Given the description of an element on the screen output the (x, y) to click on. 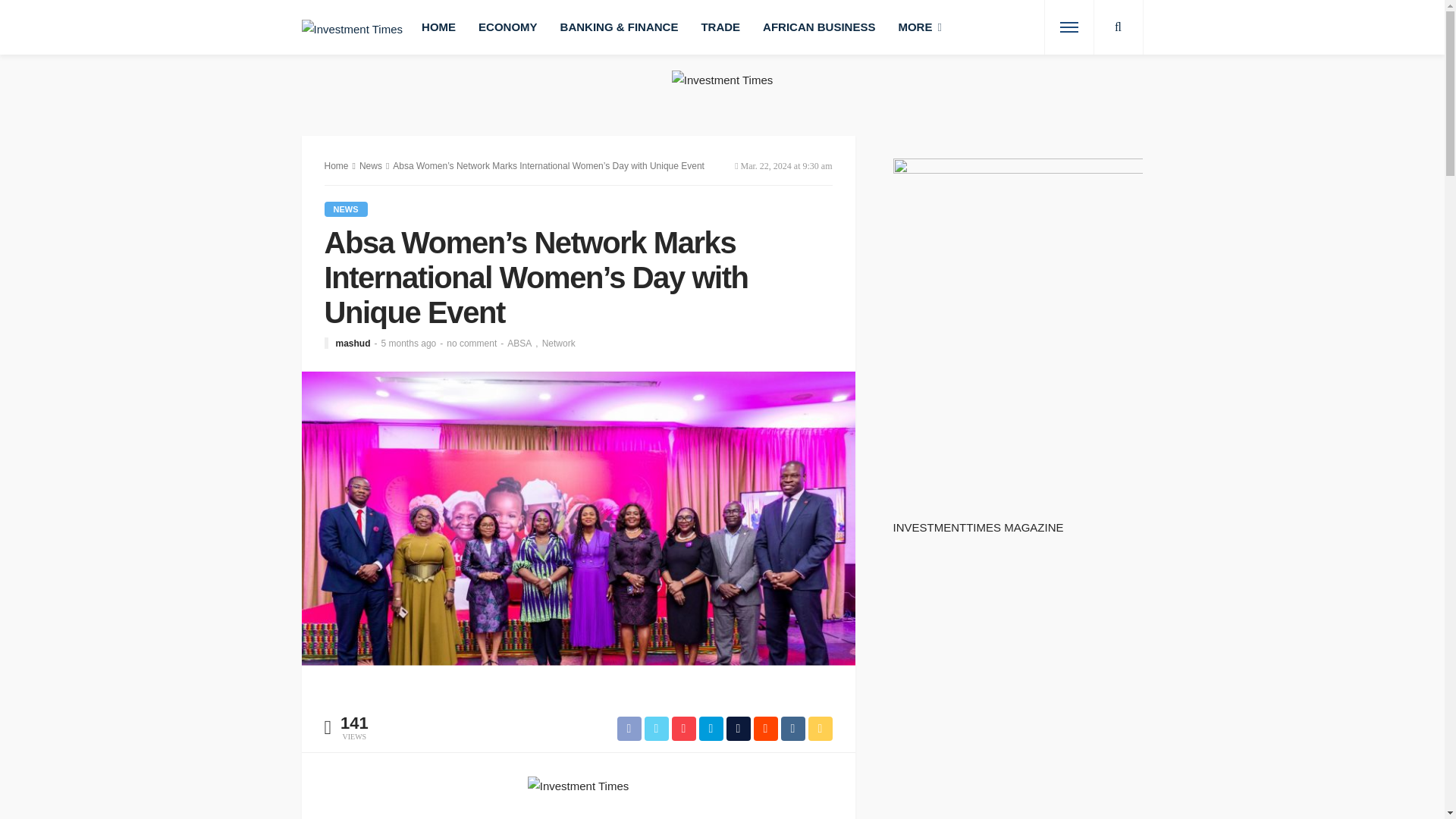
ABSA (523, 343)
TRADE (719, 27)
ABSA (523, 343)
NEWS (346, 209)
News (370, 165)
Network (558, 343)
News (346, 209)
mashud (351, 343)
Network (558, 343)
MORE (919, 27)
